Given the description of an element on the screen output the (x, y) to click on. 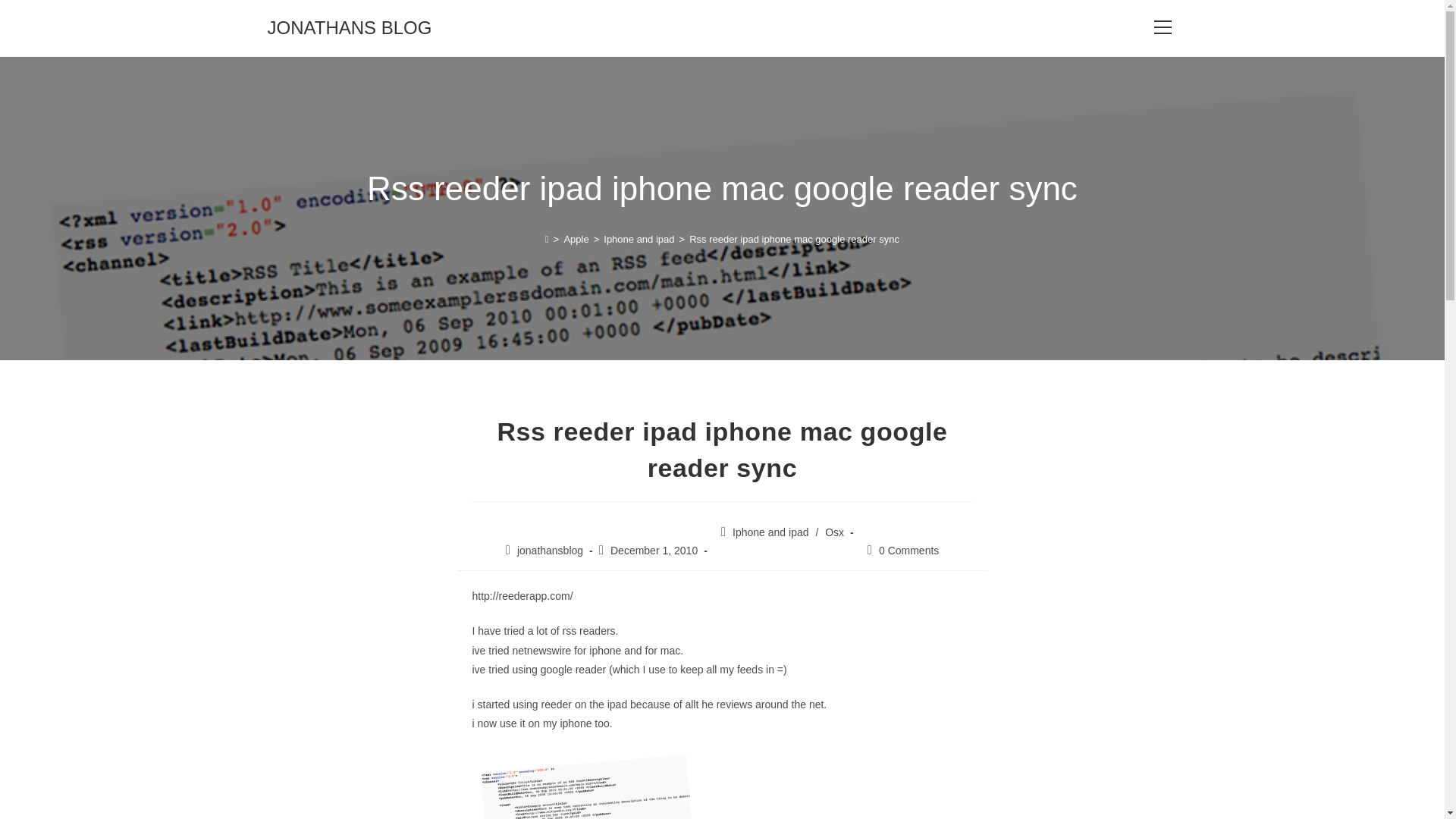
View website Menu (1162, 27)
Posts by jonathansblog (549, 550)
JONATHANS BLOG (348, 27)
